Given the description of an element on the screen output the (x, y) to click on. 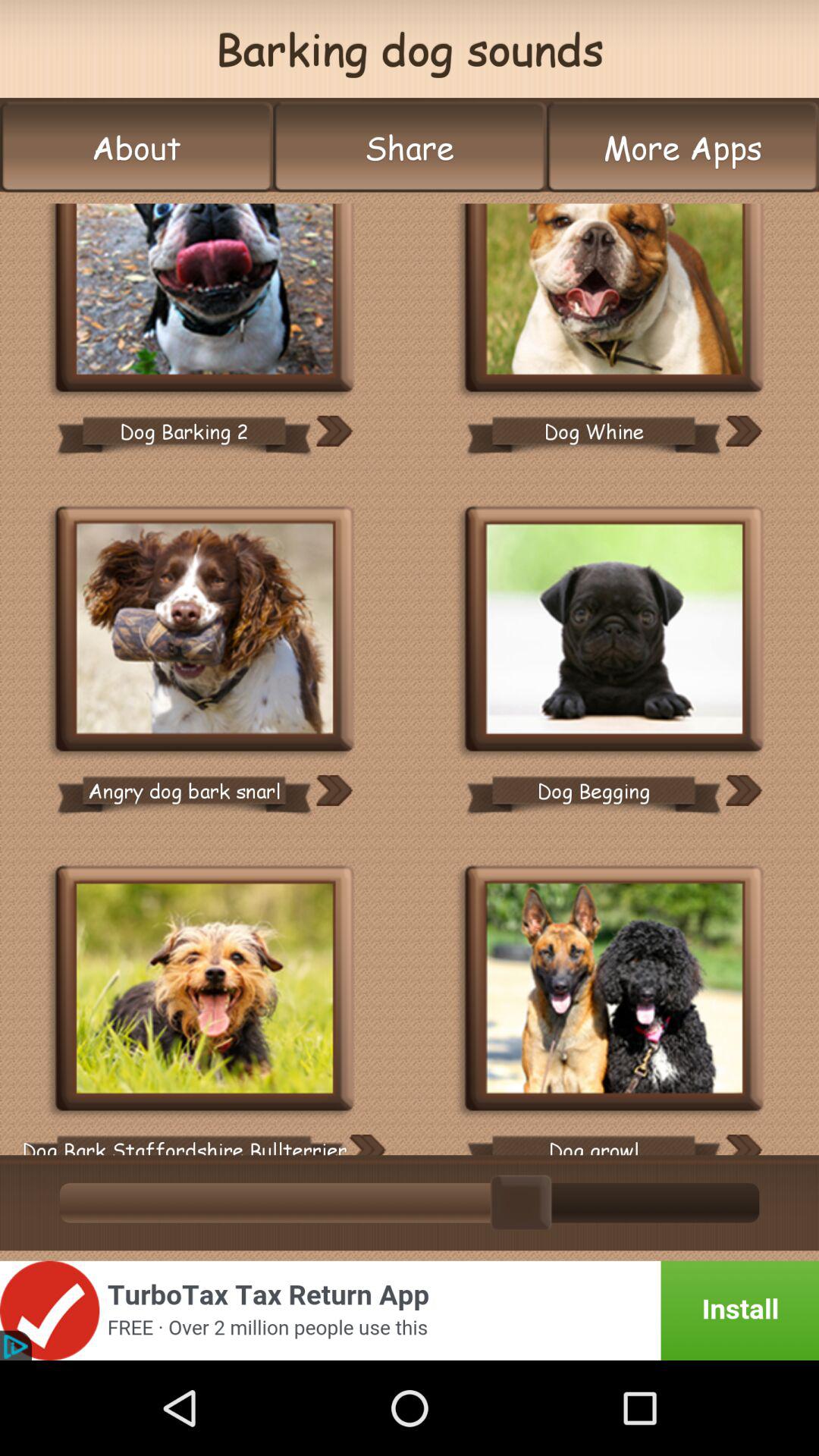
flip until dog whine icon (593, 430)
